Given the description of an element on the screen output the (x, y) to click on. 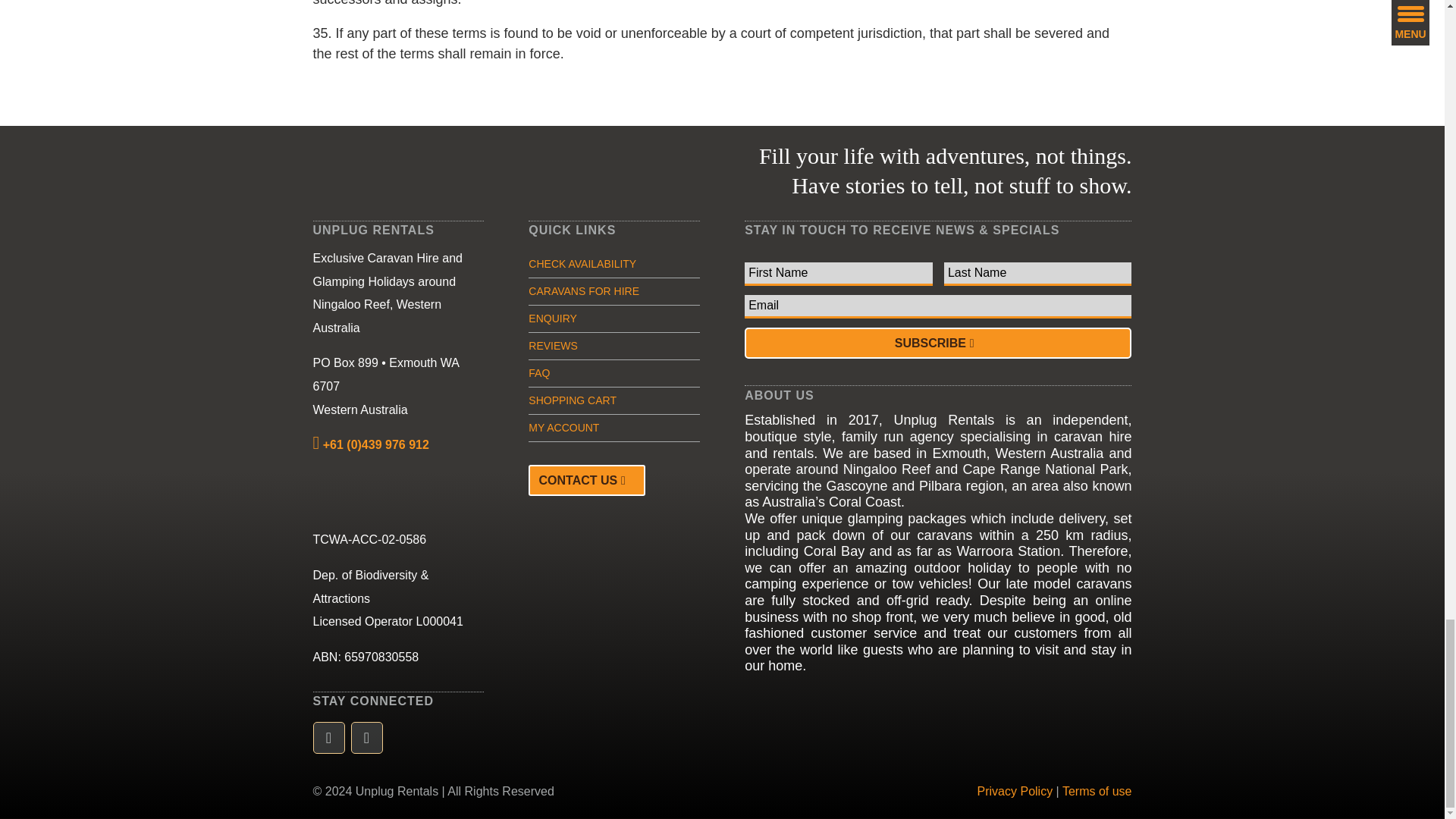
Follow on Facebook (328, 737)
Check Availability (582, 263)
CHECK AVAILABILITY (582, 263)
Follow on Instagram (365, 737)
Enquiry (552, 318)
